Given the description of an element on the screen output the (x, y) to click on. 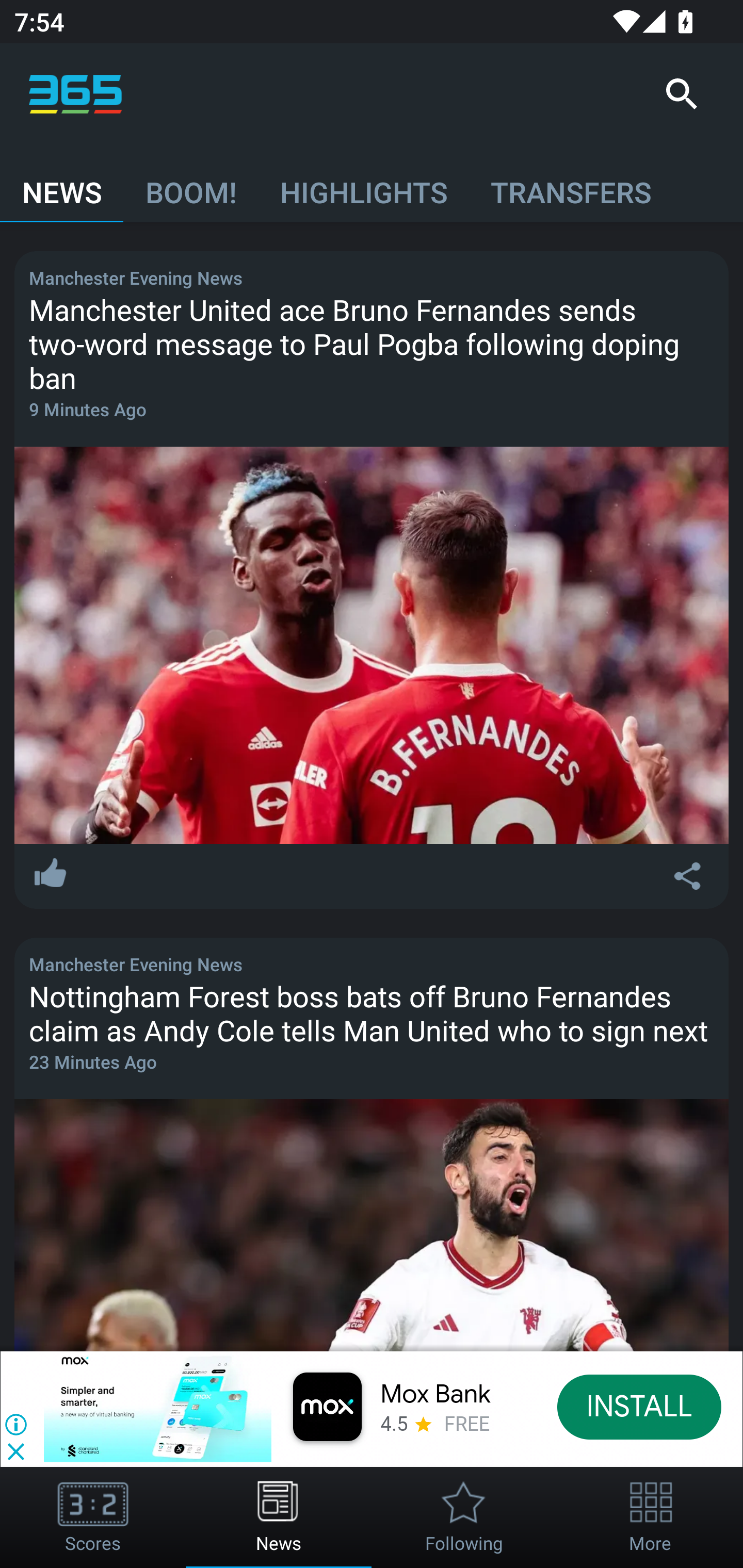
Search (681, 93)
NEWS (61, 183)
BOOM! (190, 183)
HIGHLIGHTS (362, 183)
TRANSFERS (570, 183)
INSTALL (639, 1406)
Mox Bank (435, 1394)
Scores (92, 1517)
Following (464, 1517)
More (650, 1517)
